Given the description of an element on the screen output the (x, y) to click on. 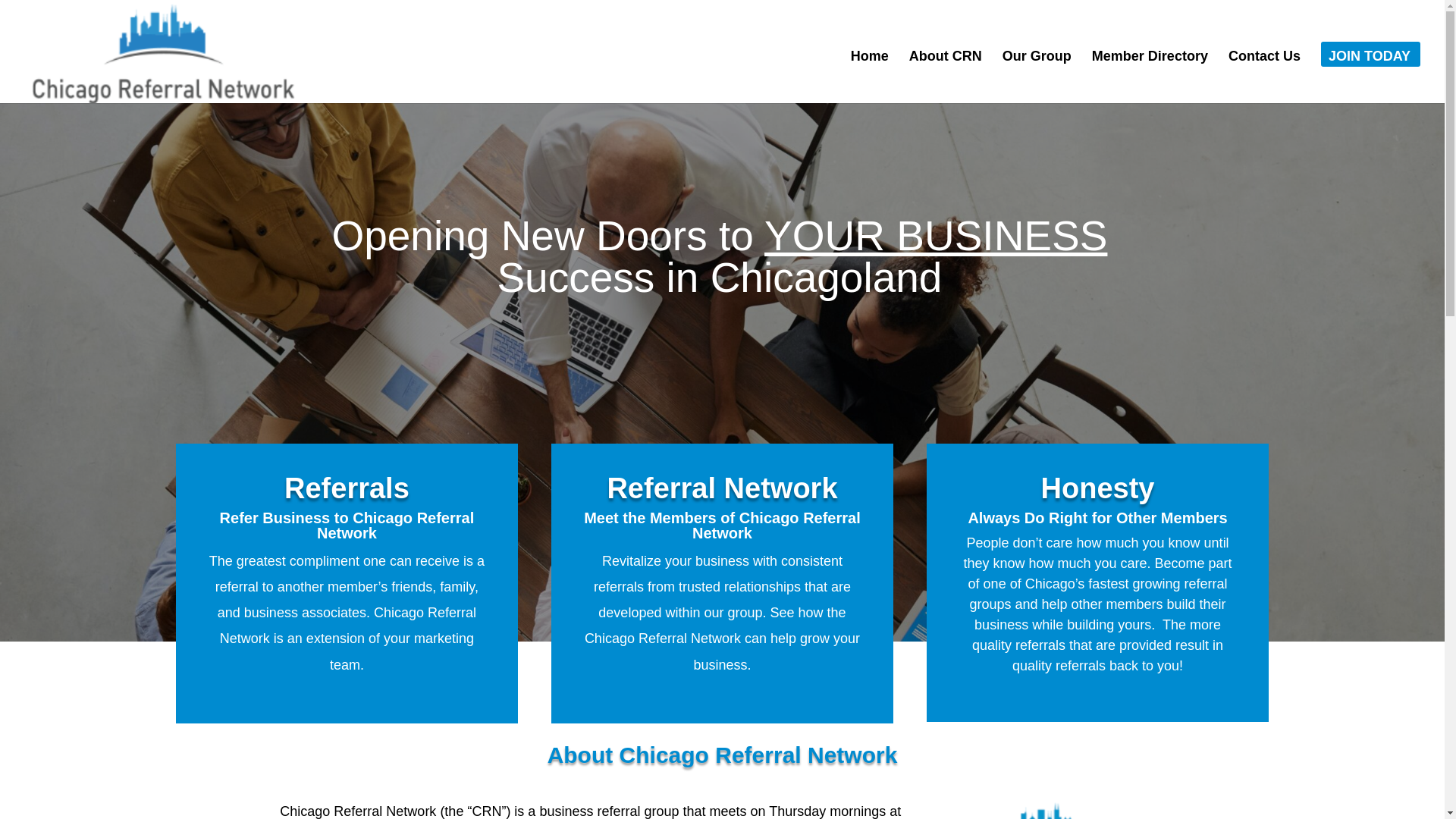
Member Directory (1150, 76)
Our Group (1037, 76)
About CRN (944, 76)
JOIN TODAY (1368, 76)
Contact Us (1264, 76)
